Given the description of an element on the screen output the (x, y) to click on. 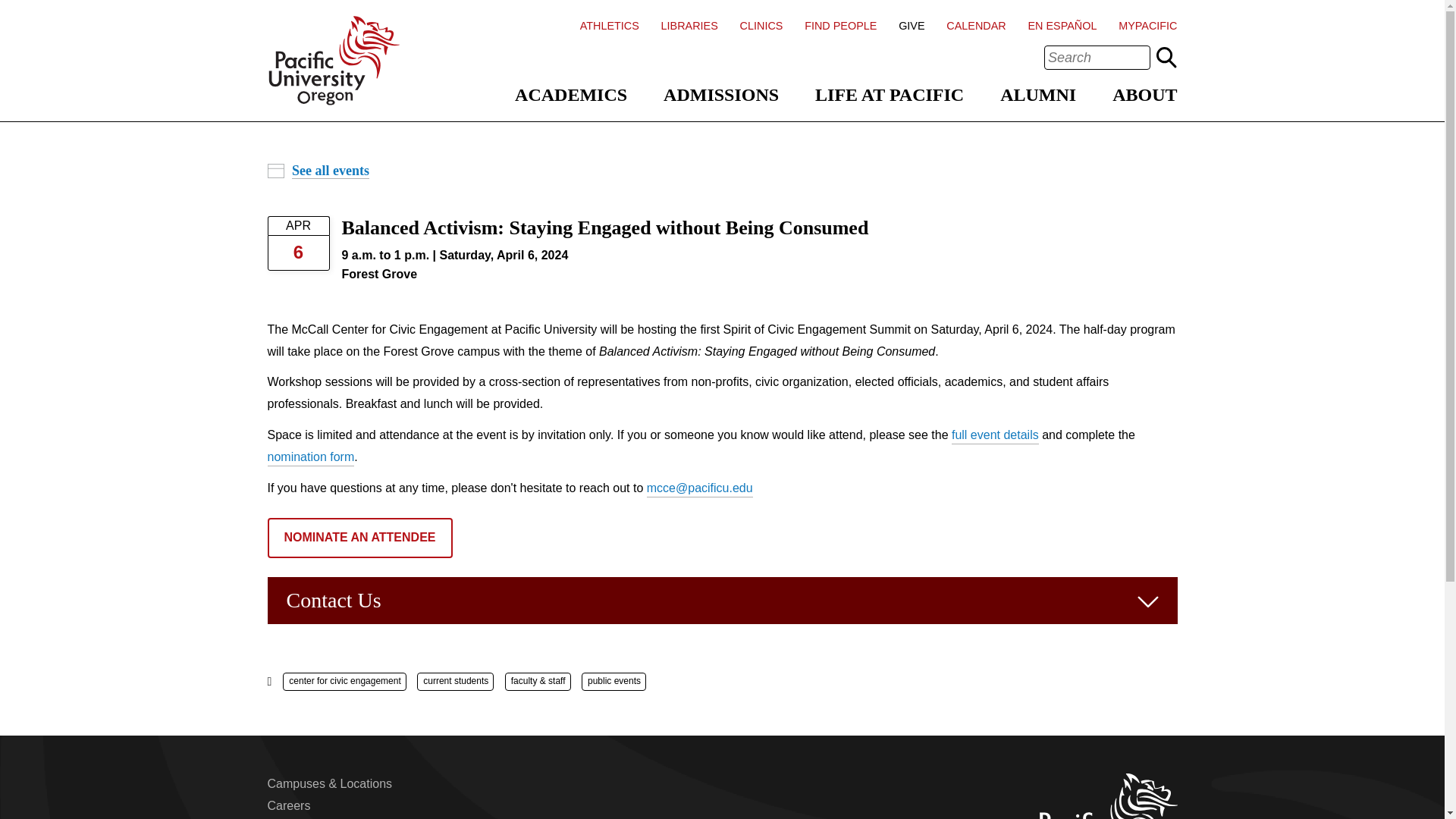
CLINICS (761, 25)
MYPACIFIC (1147, 25)
CALENDAR (976, 25)
LIFE AT PACIFIC (889, 94)
GIVE (911, 25)
Search (1166, 56)
ALUMNI (1037, 94)
LIBRARIES (689, 25)
full event details (995, 436)
ACADEMICS (571, 94)
